Given the description of an element on the screen output the (x, y) to click on. 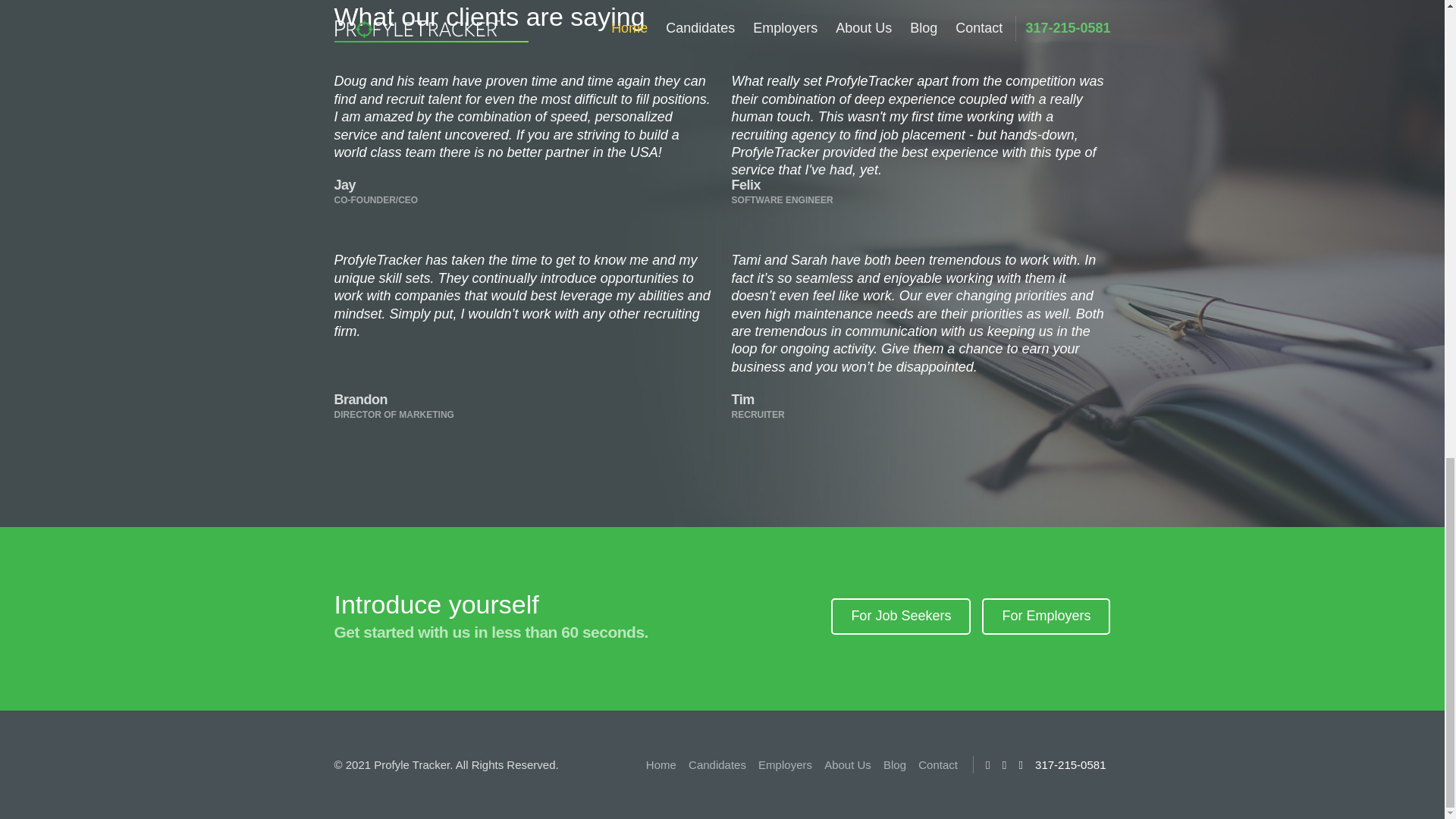
Blog (895, 764)
About Us (847, 764)
317-215-0581 (1069, 764)
Contact (938, 764)
For Employers (1045, 615)
Candidates (717, 764)
Employers (785, 764)
Home (661, 764)
For Job Seekers (901, 615)
